Given the description of an element on the screen output the (x, y) to click on. 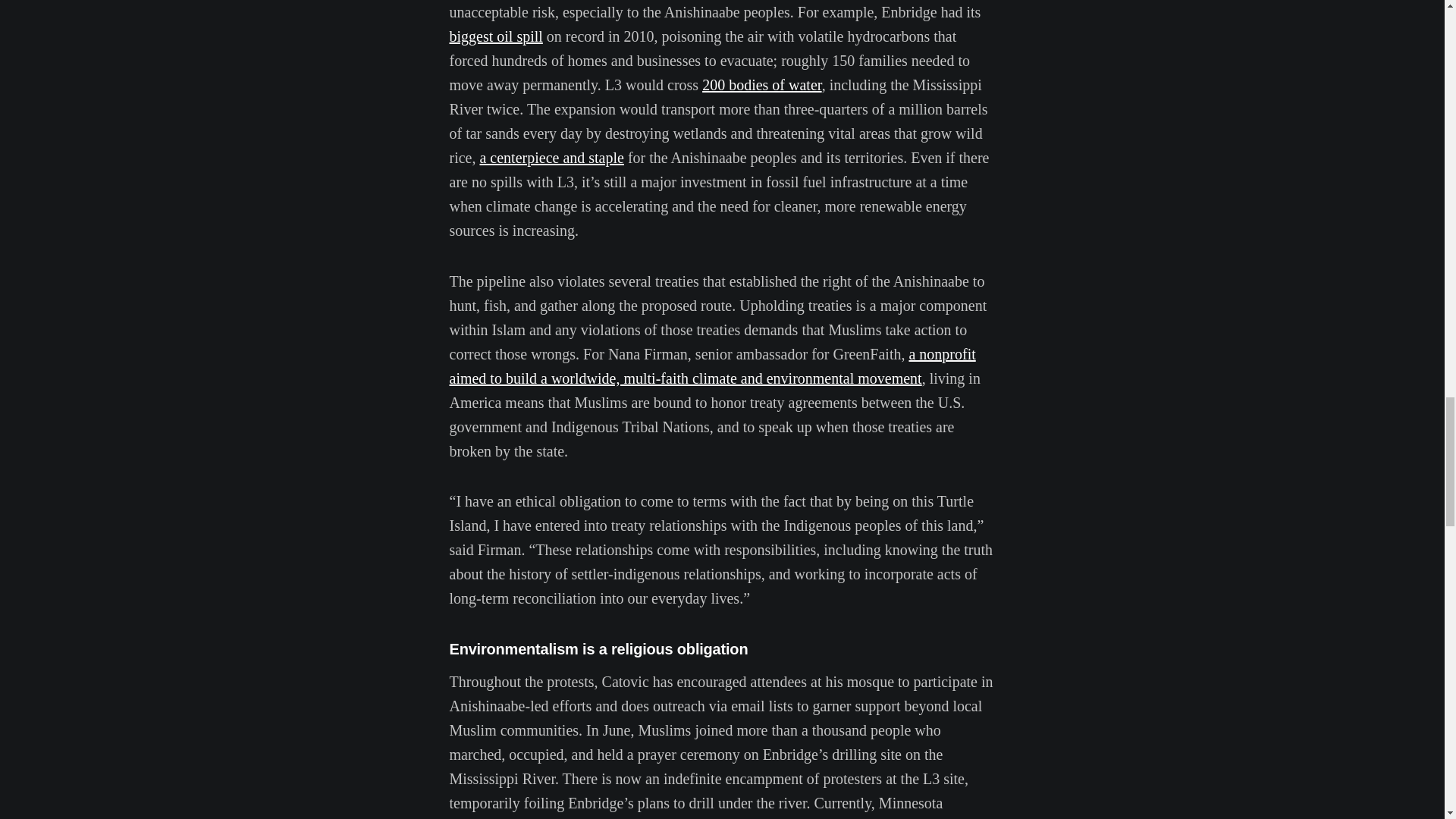
biggest oil spill (494, 36)
a centerpiece and staple (551, 157)
200 bodies of water (761, 84)
